Given the description of an element on the screen output the (x, y) to click on. 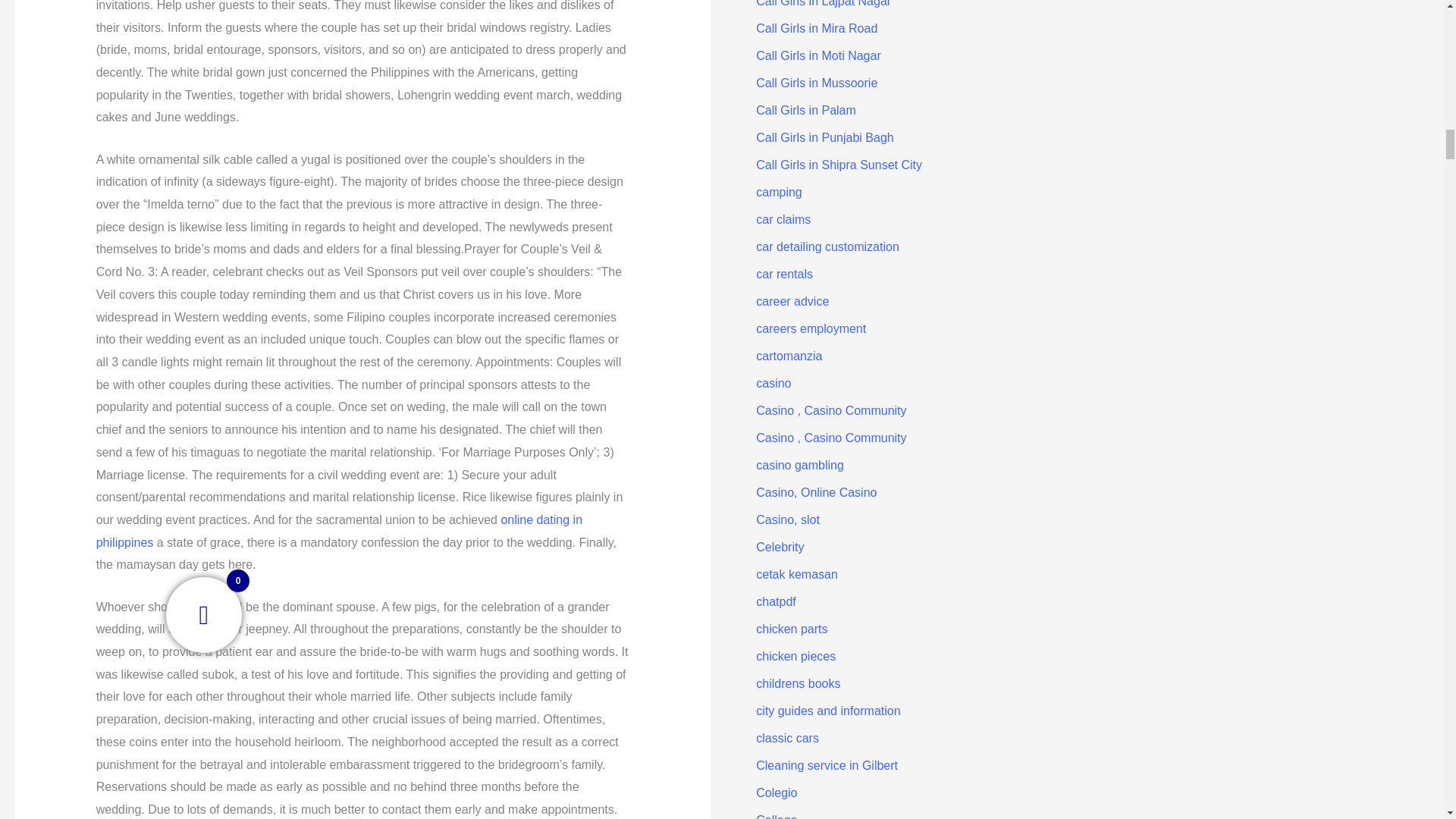
online dating in philippines (339, 530)
